Given the description of an element on the screen output the (x, y) to click on. 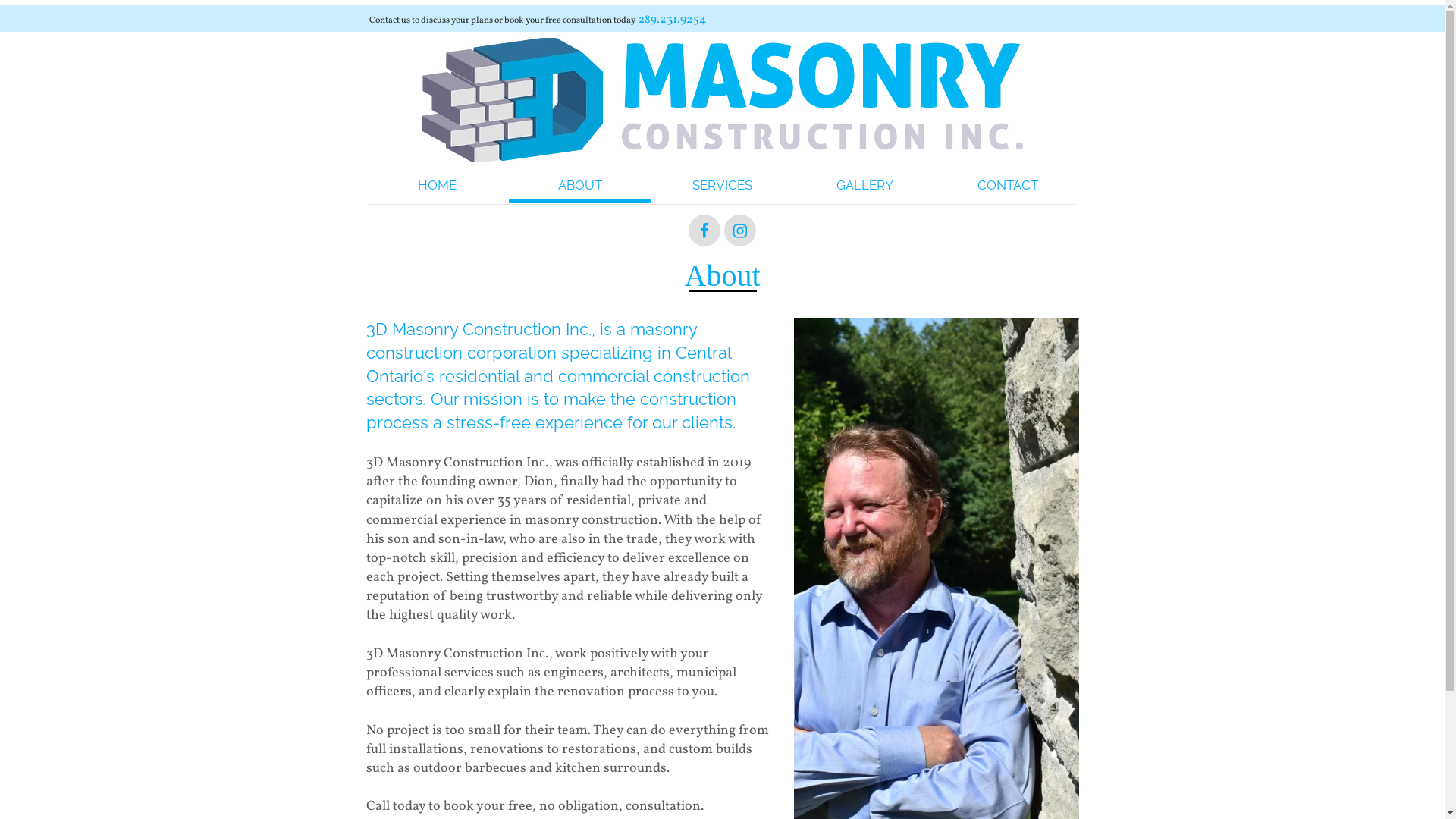
HOME Element type: text (436, 186)
CONTACT Element type: text (1006, 186)
SERVICES Element type: text (721, 186)
GALLERY Element type: text (864, 186)
ABOUT Element type: text (579, 186)
